Given the description of an element on the screen output the (x, y) to click on. 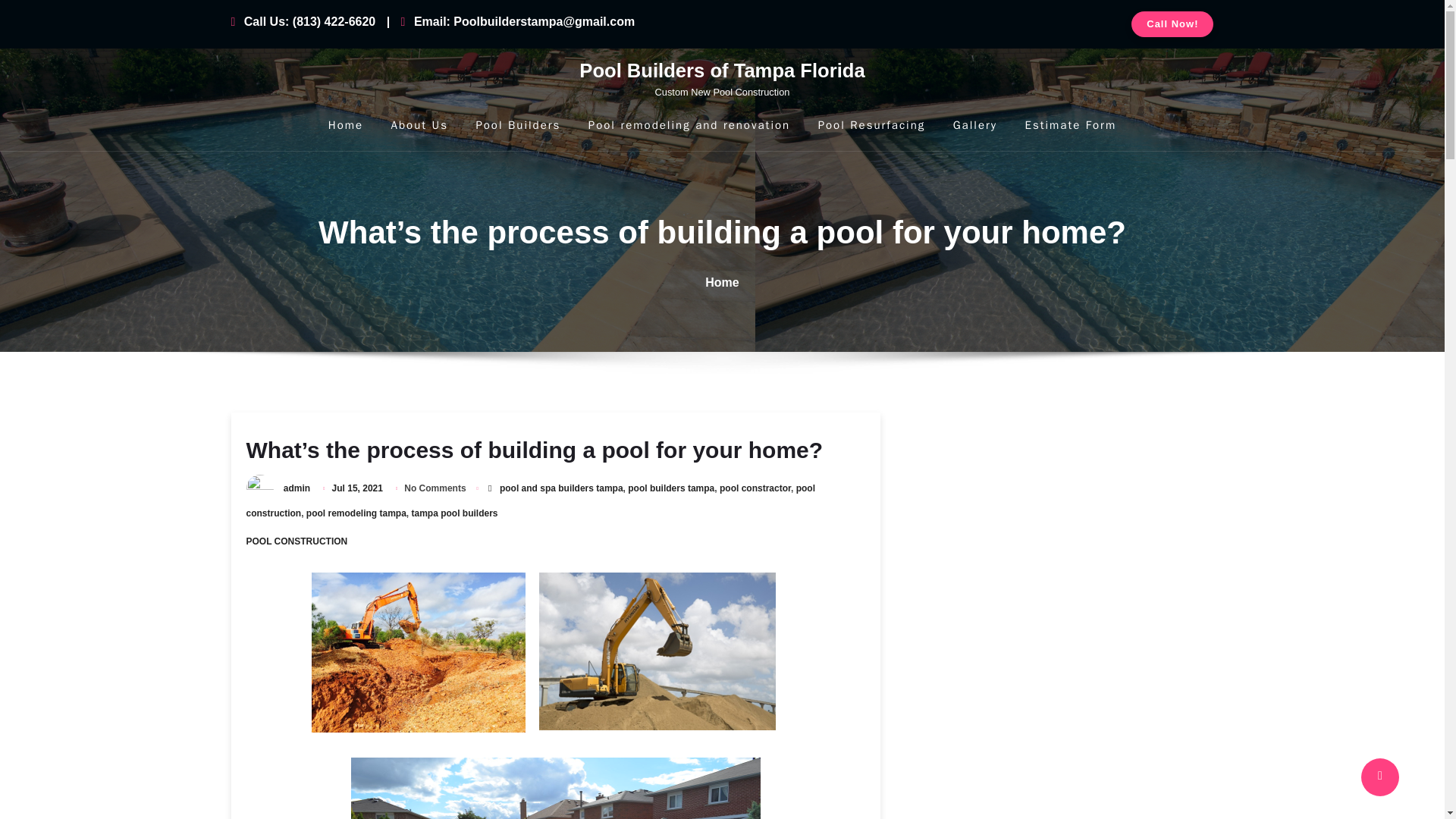
tampa pool builders (454, 512)
Home (721, 282)
POOL CONSTRUCTION (296, 540)
admin (296, 488)
Gallery (975, 124)
pool remodeling tampa (355, 512)
Call Now! (1171, 23)
Pool Builders (518, 124)
pool construction (529, 500)
Jul 15, 2021 (358, 488)
About Us (419, 124)
Estimate Form (1070, 124)
pool constractor (754, 488)
pool builders tampa (721, 77)
